Given the description of an element on the screen output the (x, y) to click on. 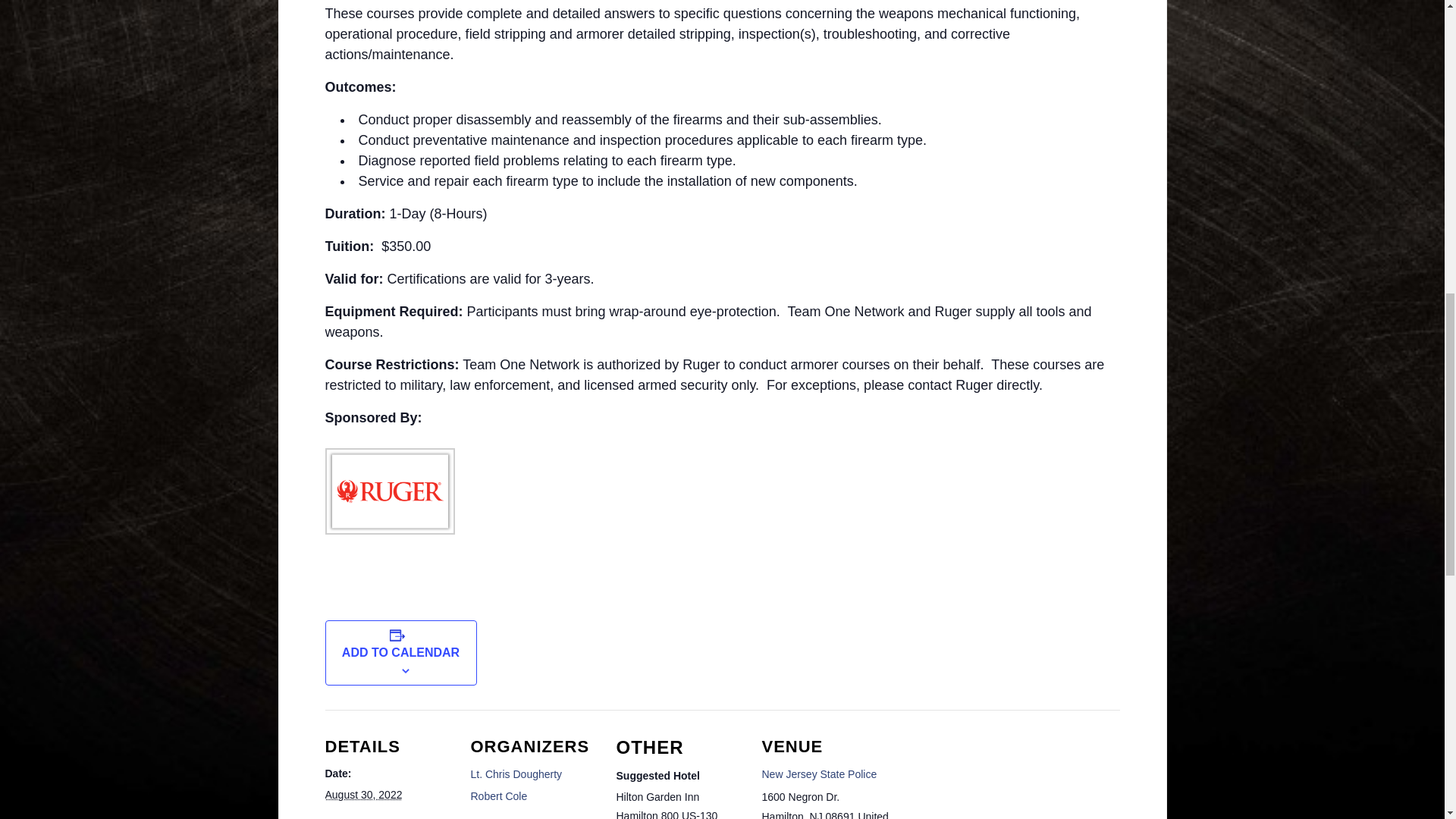
New Jersey (815, 814)
Robert Cole (498, 796)
Lt. Chris Dougherty (516, 774)
2022-08-30 (362, 794)
